Given the description of an element on the screen output the (x, y) to click on. 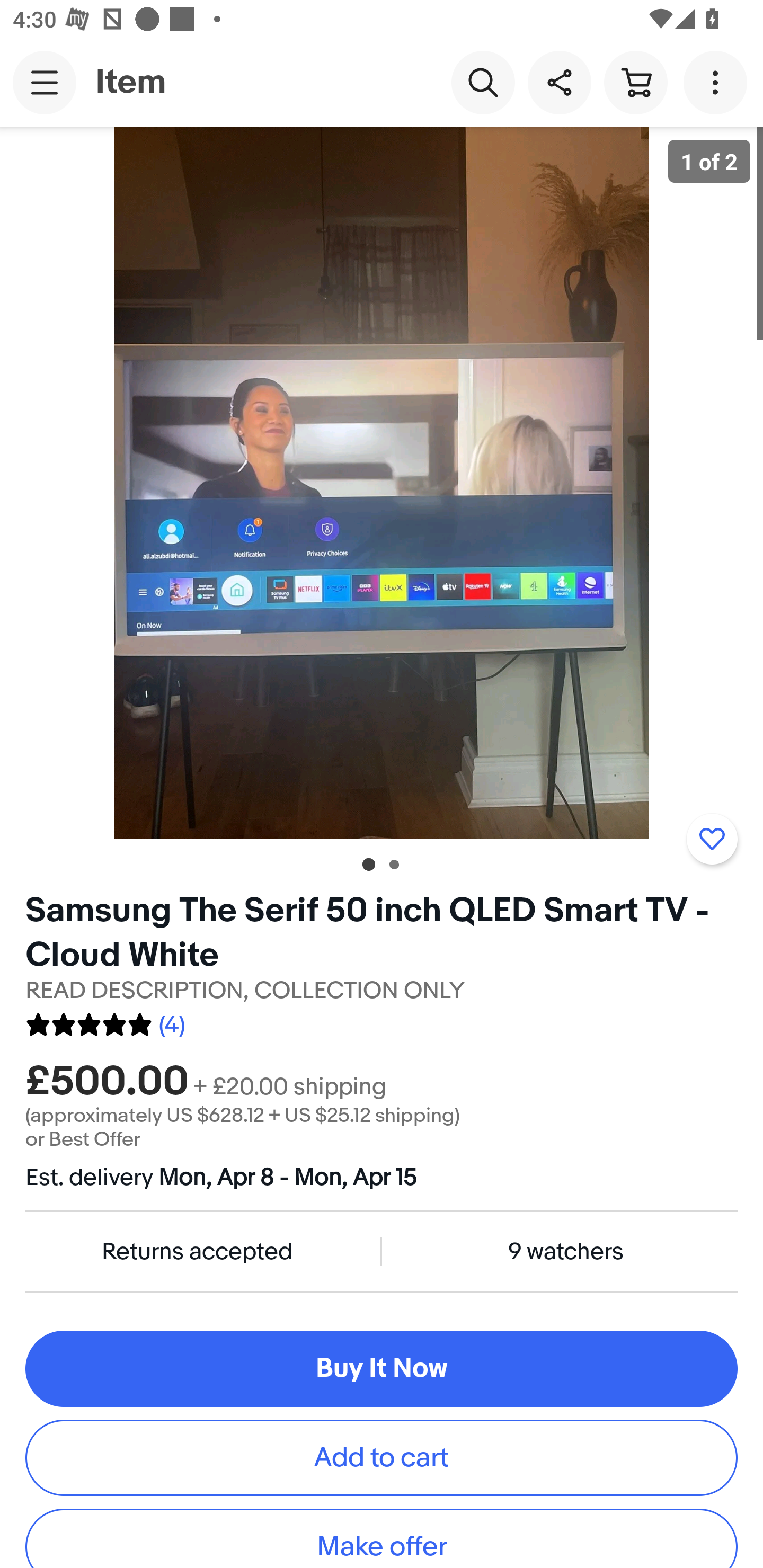
Main navigation, open (44, 82)
Search (482, 81)
Share this item (559, 81)
Cart button shopping cart (635, 81)
More options (718, 81)
Item image 1 of 2 (381, 482)
Add to watchlist (711, 838)
4 reviews. Average rating 5.0 out of five 10.0 (4) (105, 1021)
Buy It Now (381, 1368)
Add to cart (381, 1457)
Make offer (381, 1538)
